Given the description of an element on the screen output the (x, y) to click on. 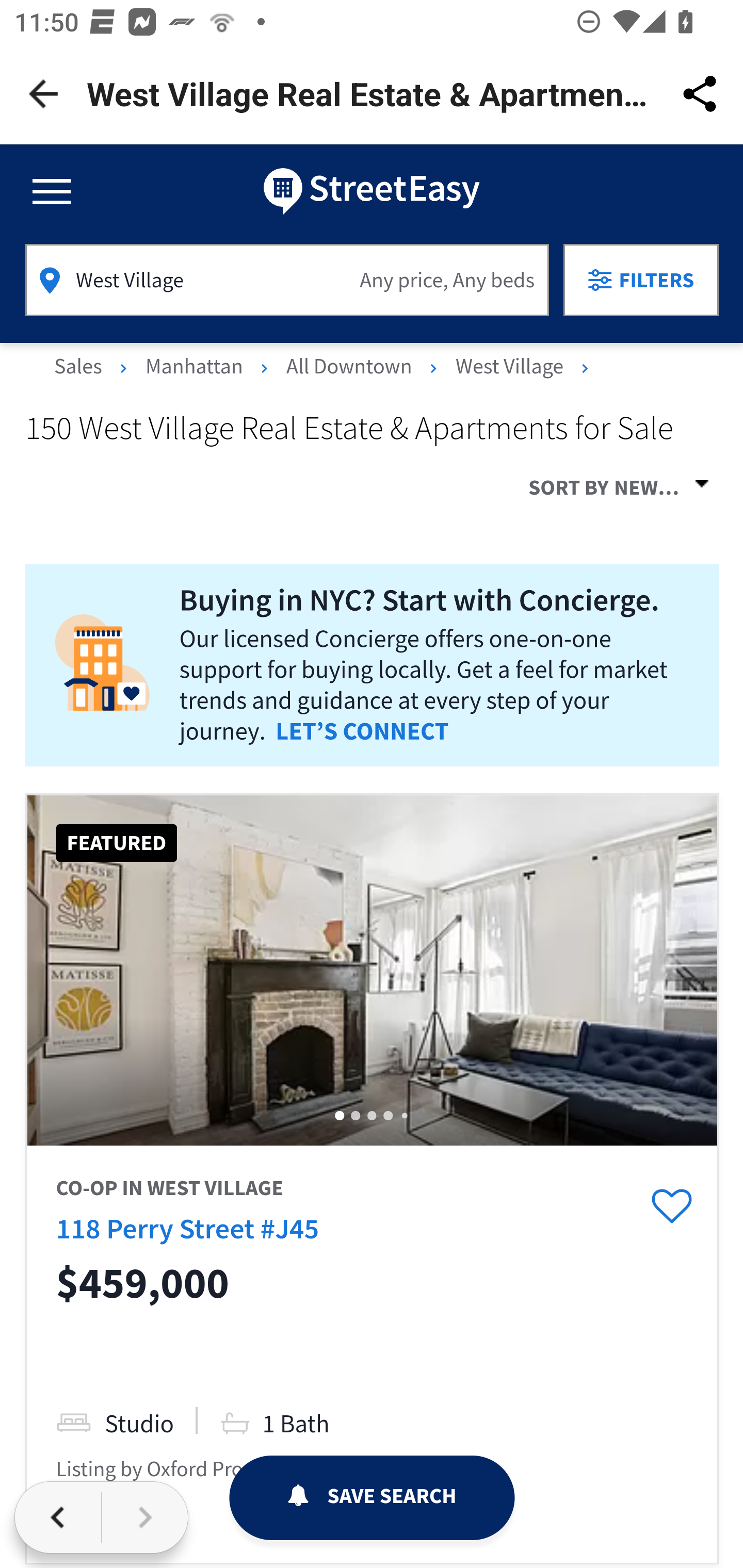
Skip Navigation (371, 190)
West Village Any price, Any beds (287, 279)
FILTERS (641, 279)
Sales (81, 376)
Manhattan (196, 376)
All Downtown (350, 376)
West Village (511, 376)
NEWEST (666, 483)
118 Perry Street #J45 image 1 of 10 (371, 970)
Save listing (671, 1207)
118 Perry Street #J45 (186, 1227)
SAVE SEARCH  SAVE SEARCH (371, 1498)
